Given the description of an element on the screen output the (x, y) to click on. 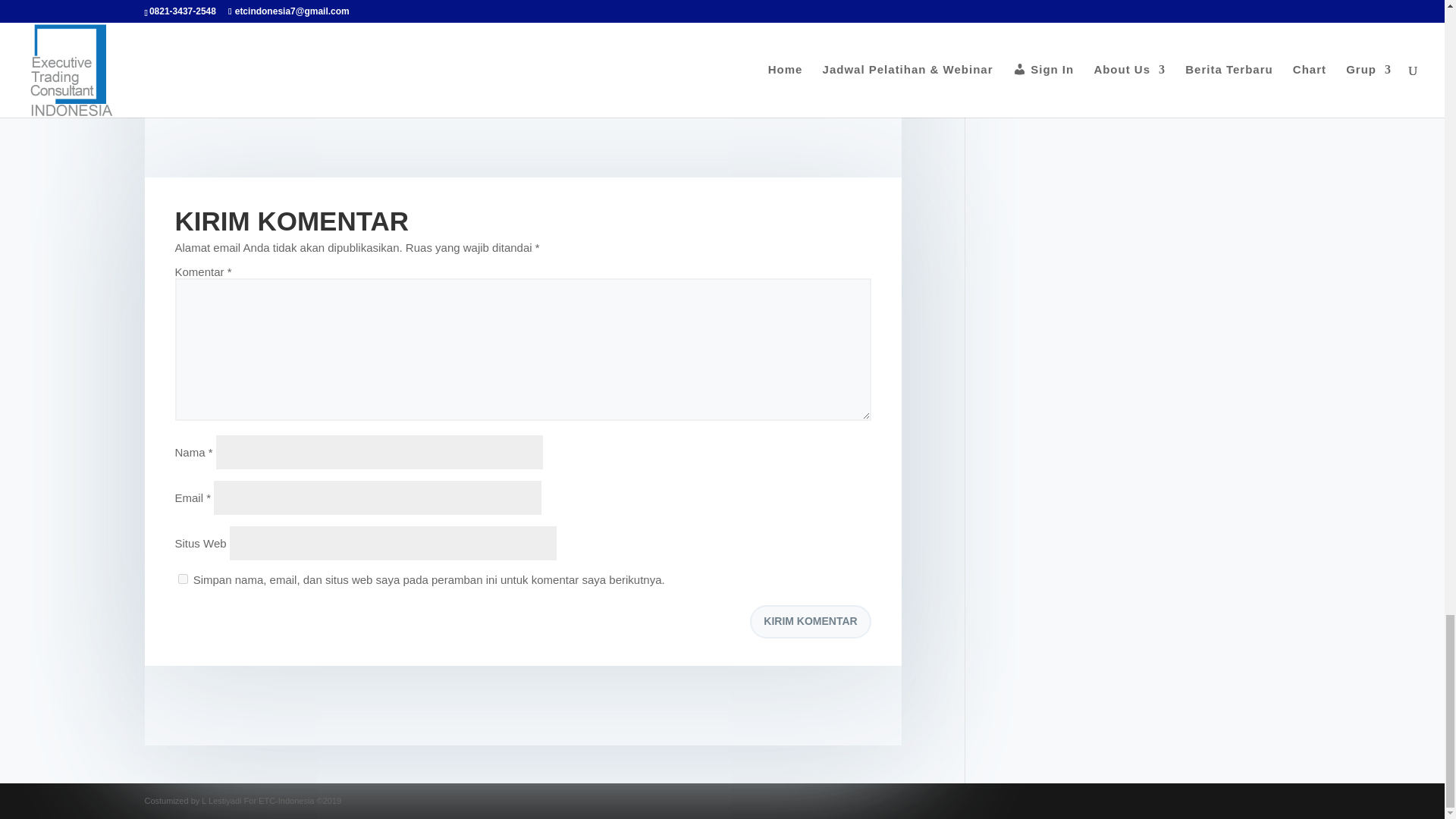
yes (182, 578)
Kirim Komentar (809, 621)
print (304, 15)
twitter (210, 15)
google (235, 15)
facebook (187, 15)
pinterest (281, 15)
whatsapp (328, 15)
linkedin (257, 15)
